Given the description of an element on the screen output the (x, y) to click on. 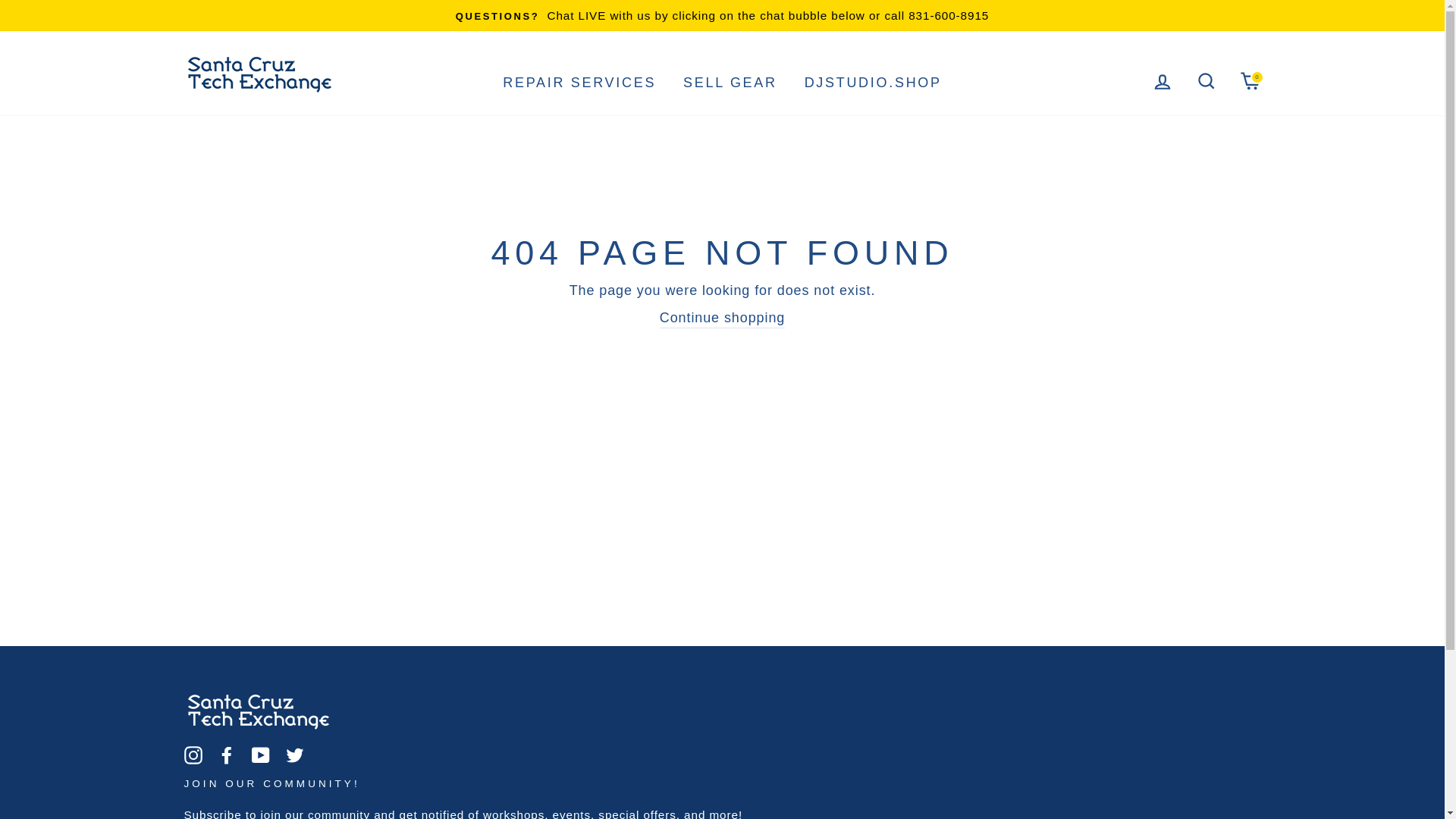
Santa Cruz Tech Exchange on Twitter (294, 753)
Santa Cruz Tech Exchange on Instagram (192, 753)
Instagram (192, 753)
LOG IN (1249, 80)
SEARCH (1162, 80)
YouTube (1205, 80)
REPAIR SERVICES (260, 753)
Skip to content (579, 82)
